Given the description of an element on the screen output the (x, y) to click on. 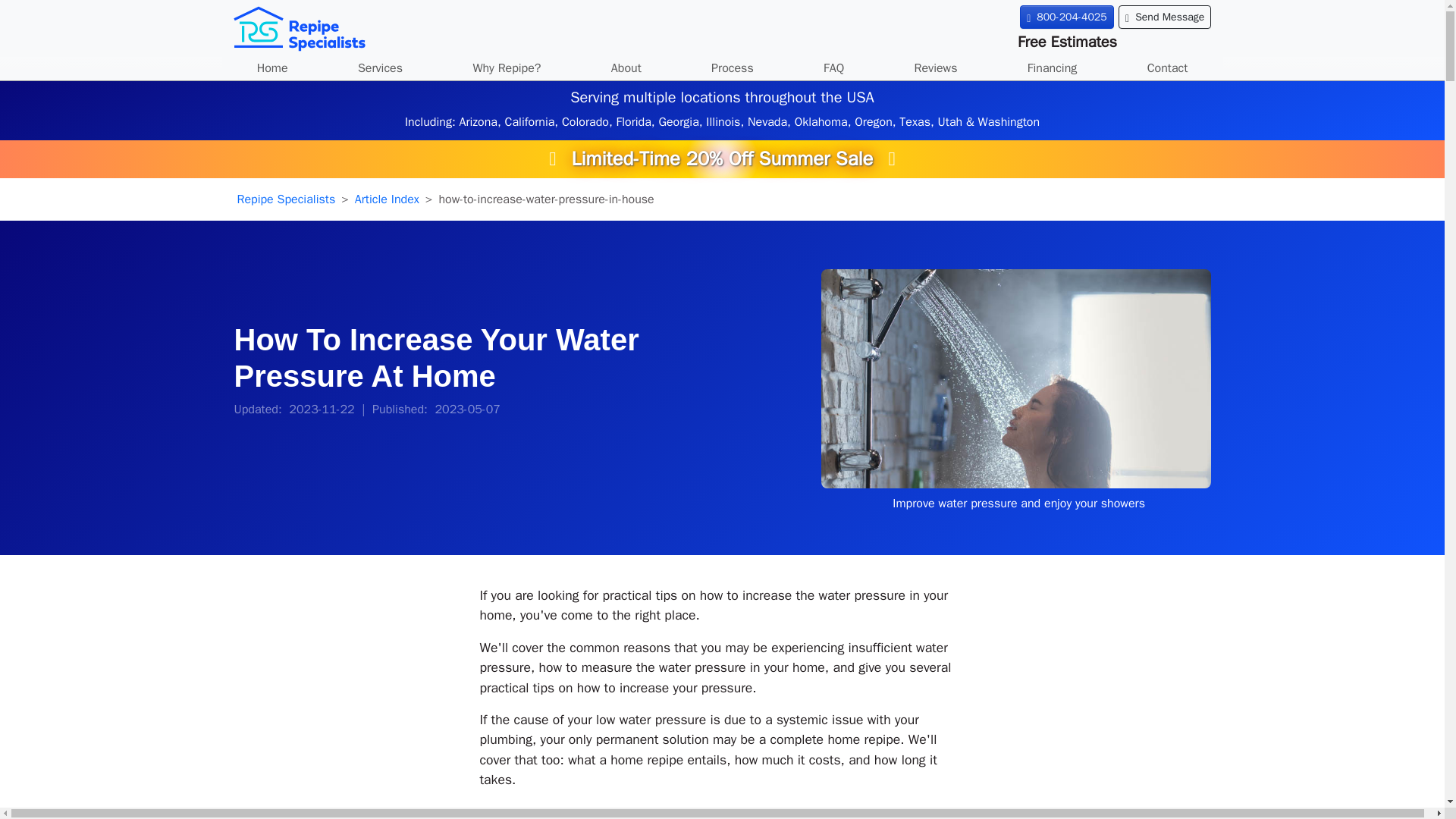
Why Repipe? (506, 68)
Do You Need a Repipe? (506, 68)
Article Index (387, 199)
800-204-4025 (1066, 16)
Financing Offer (1052, 68)
Repipe Specialists Home Page (271, 68)
Contact (1167, 68)
Repipe Services (380, 68)
FAQ (834, 68)
One-Stop Repipe (733, 68)
